Given the description of an element on the screen output the (x, y) to click on. 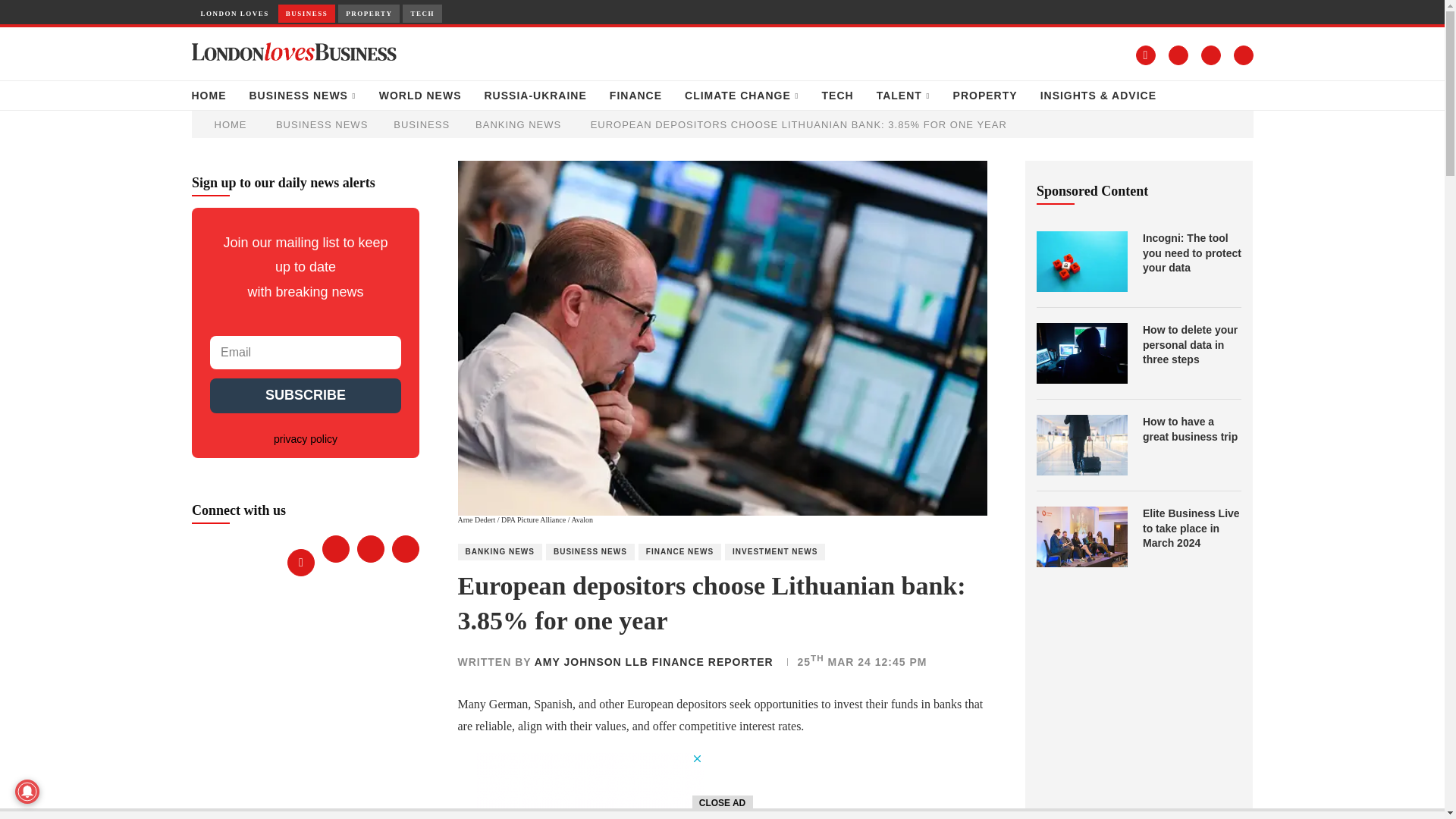
3rd party ad content (589, 785)
Incogni: The tool you need to protect your data (1081, 260)
